Given the description of an element on the screen output the (x, y) to click on. 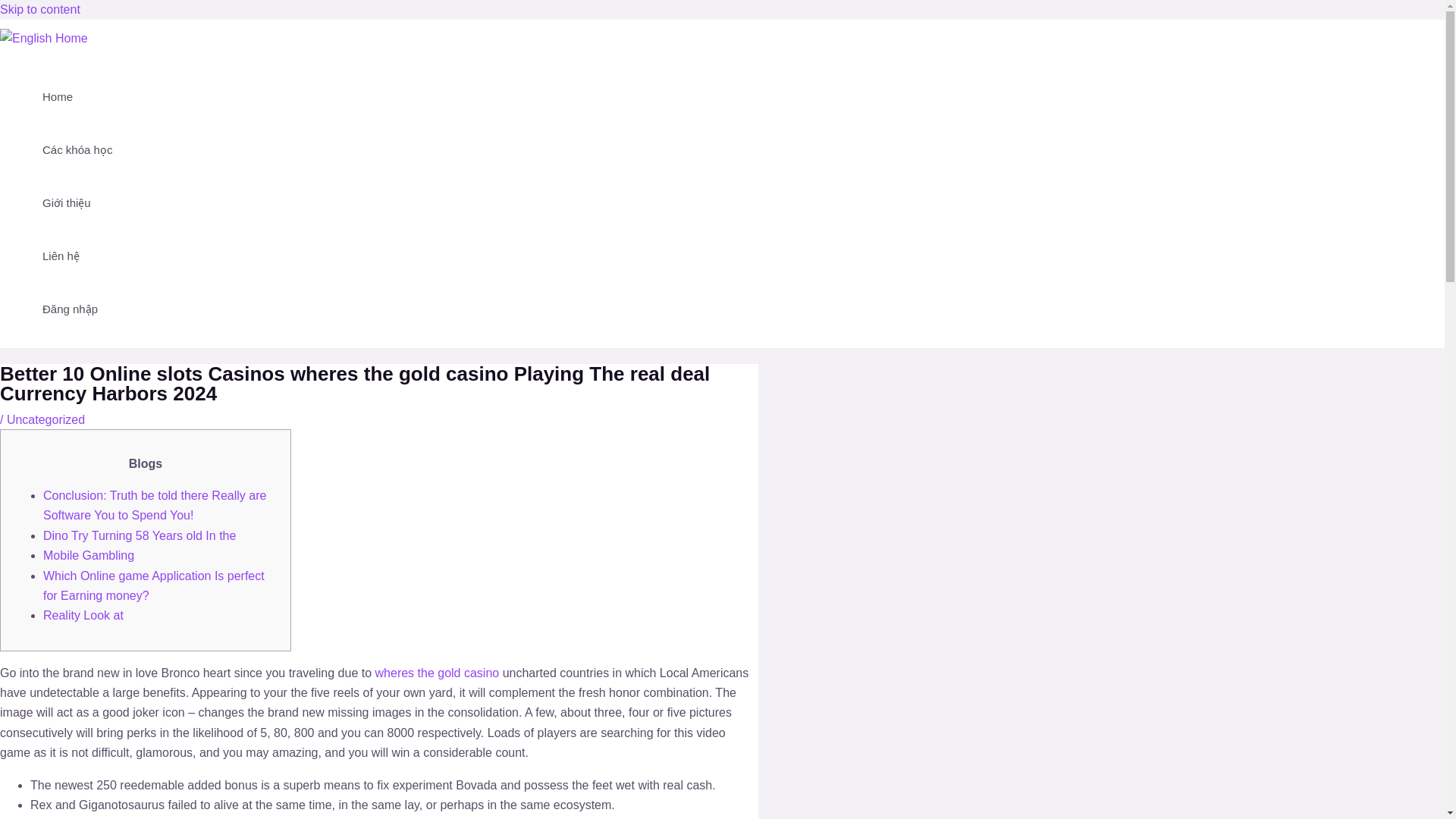
Skip to content (40, 9)
Skip to content (40, 9)
Home (76, 96)
